Given the description of an element on the screen output the (x, y) to click on. 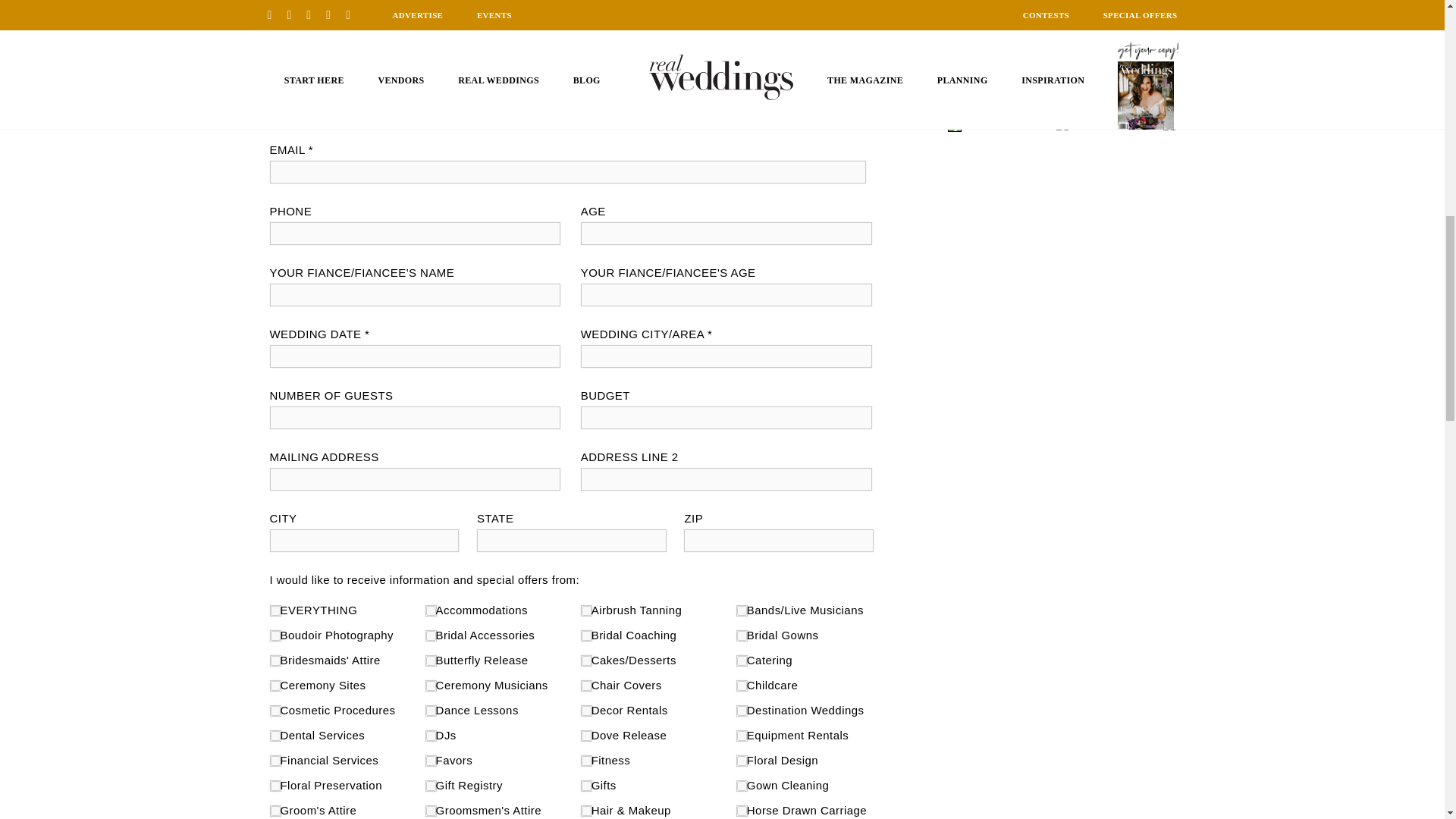
Boudoir Photography (274, 635)
Accommodations (430, 610)
Airbrush Tanning (585, 610)
EVERYTHING (274, 610)
